Given the description of an element on the screen output the (x, y) to click on. 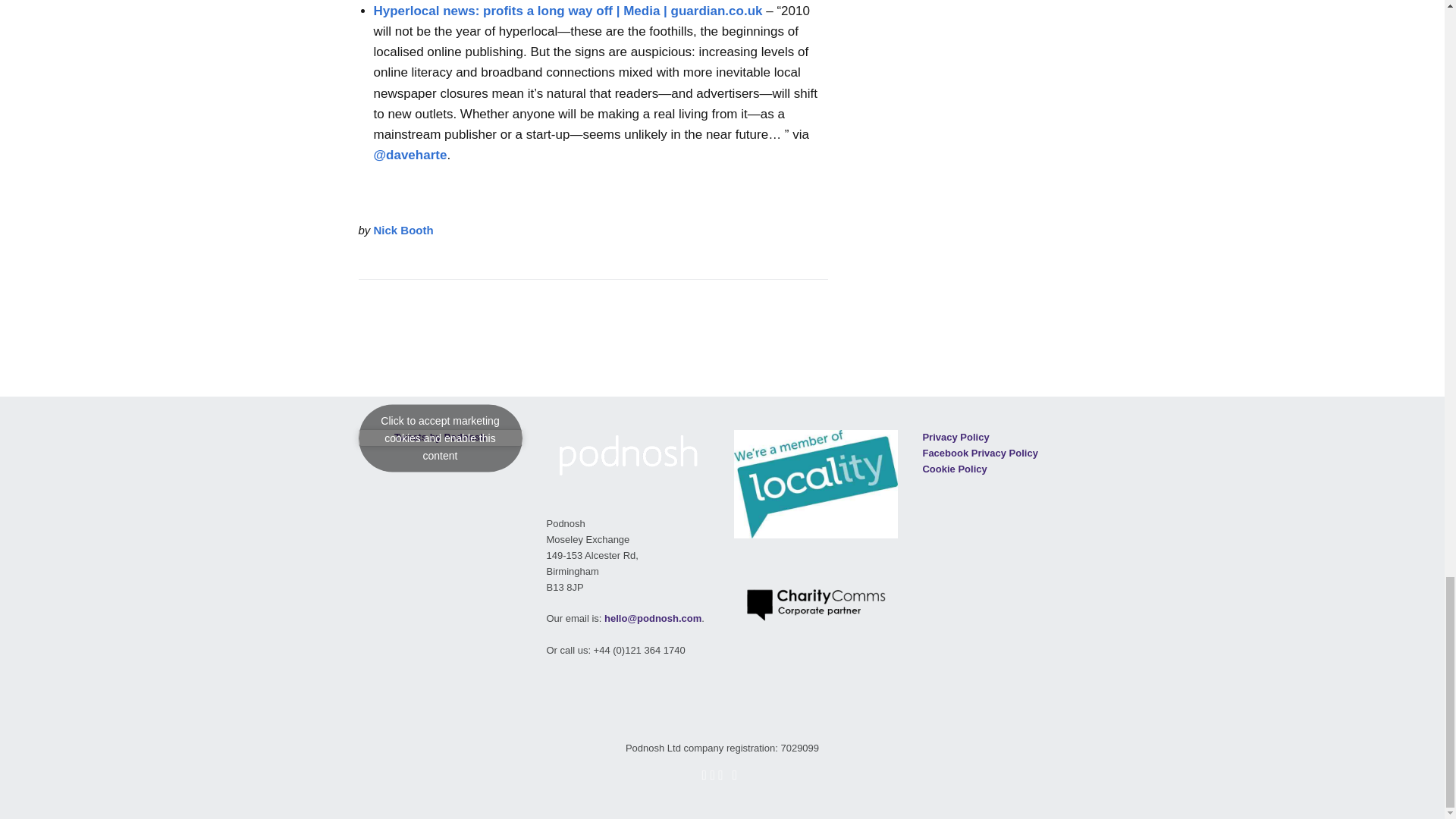
Dave's blog post (409, 155)
